Given the description of an element on the screen output the (x, y) to click on. 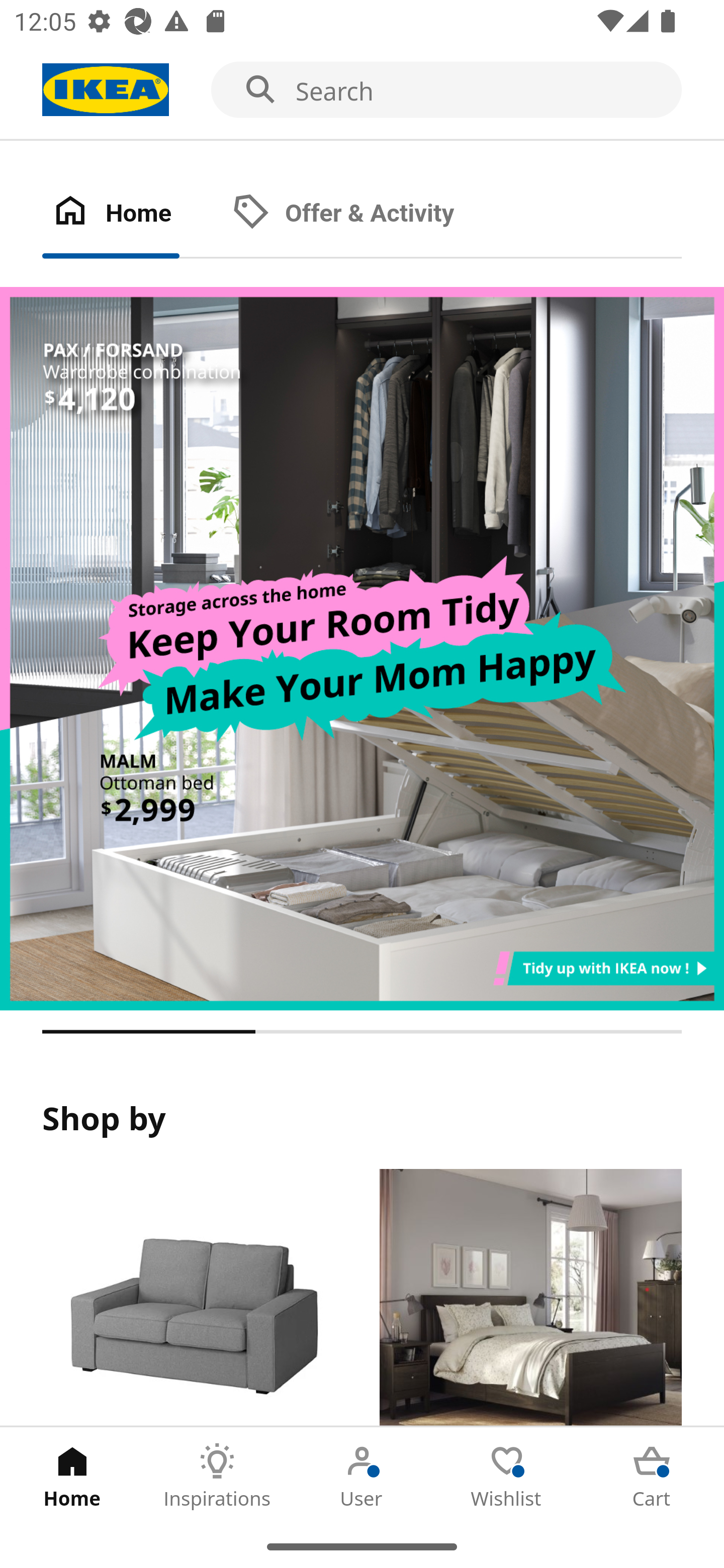
Search (361, 90)
Home
Tab 1 of 2 (131, 213)
Offer & Activity
Tab 2 of 2 (363, 213)
Products (192, 1297)
Rooms (530, 1297)
Home
Tab 1 of 5 (72, 1476)
Inspirations
Tab 2 of 5 (216, 1476)
User
Tab 3 of 5 (361, 1476)
Wishlist
Tab 4 of 5 (506, 1476)
Cart
Tab 5 of 5 (651, 1476)
